Given the description of an element on the screen output the (x, y) to click on. 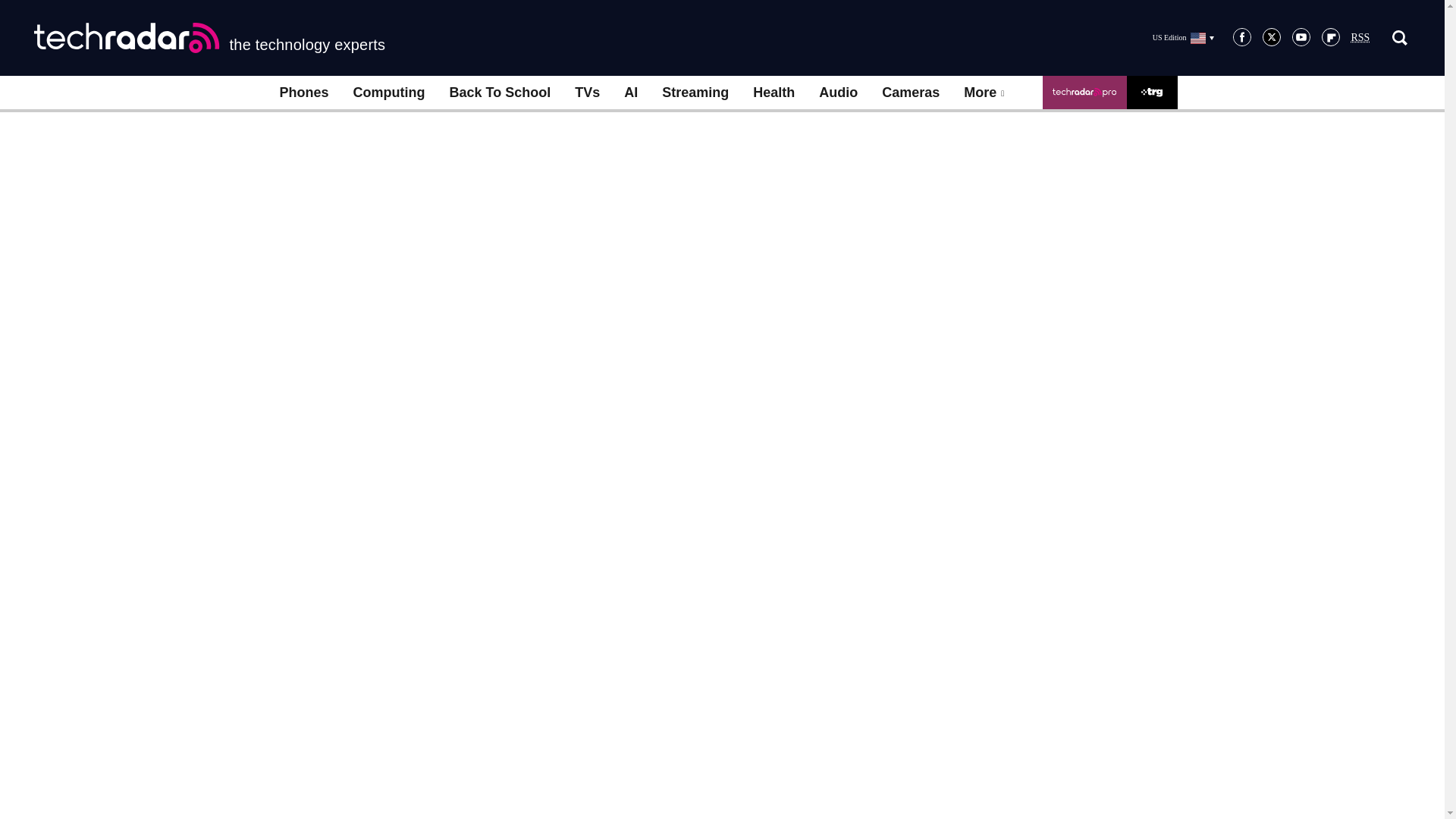
Really Simple Syndication (1360, 37)
Health (773, 92)
Phones (303, 92)
TVs (586, 92)
Computing (389, 92)
Audio (837, 92)
Cameras (910, 92)
AI (630, 92)
Back To School (499, 92)
US Edition (1182, 37)
